Given the description of an element on the screen output the (x, y) to click on. 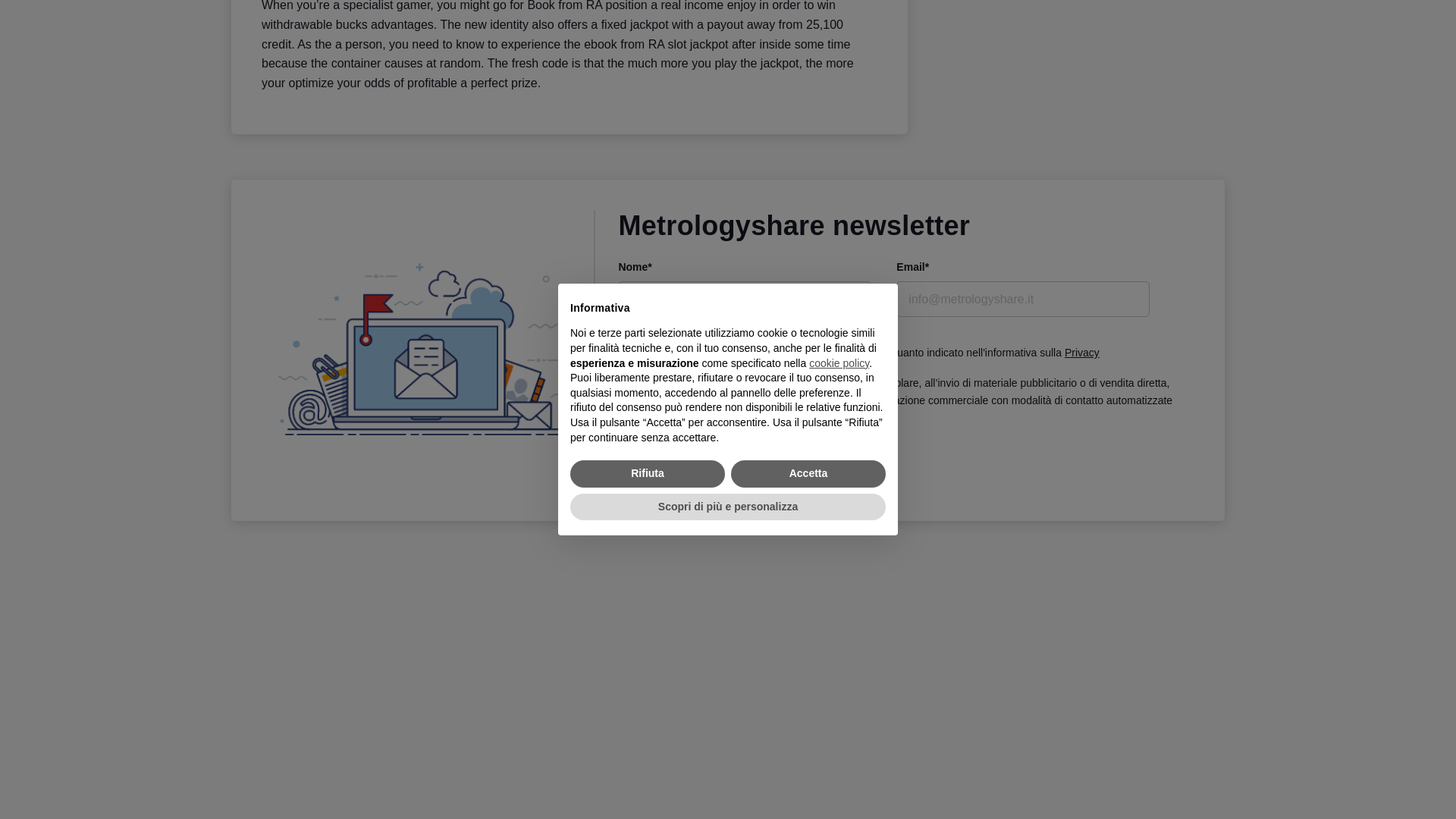
Invia il tuo messaggio (702, 472)
